Given the description of an element on the screen output the (x, y) to click on. 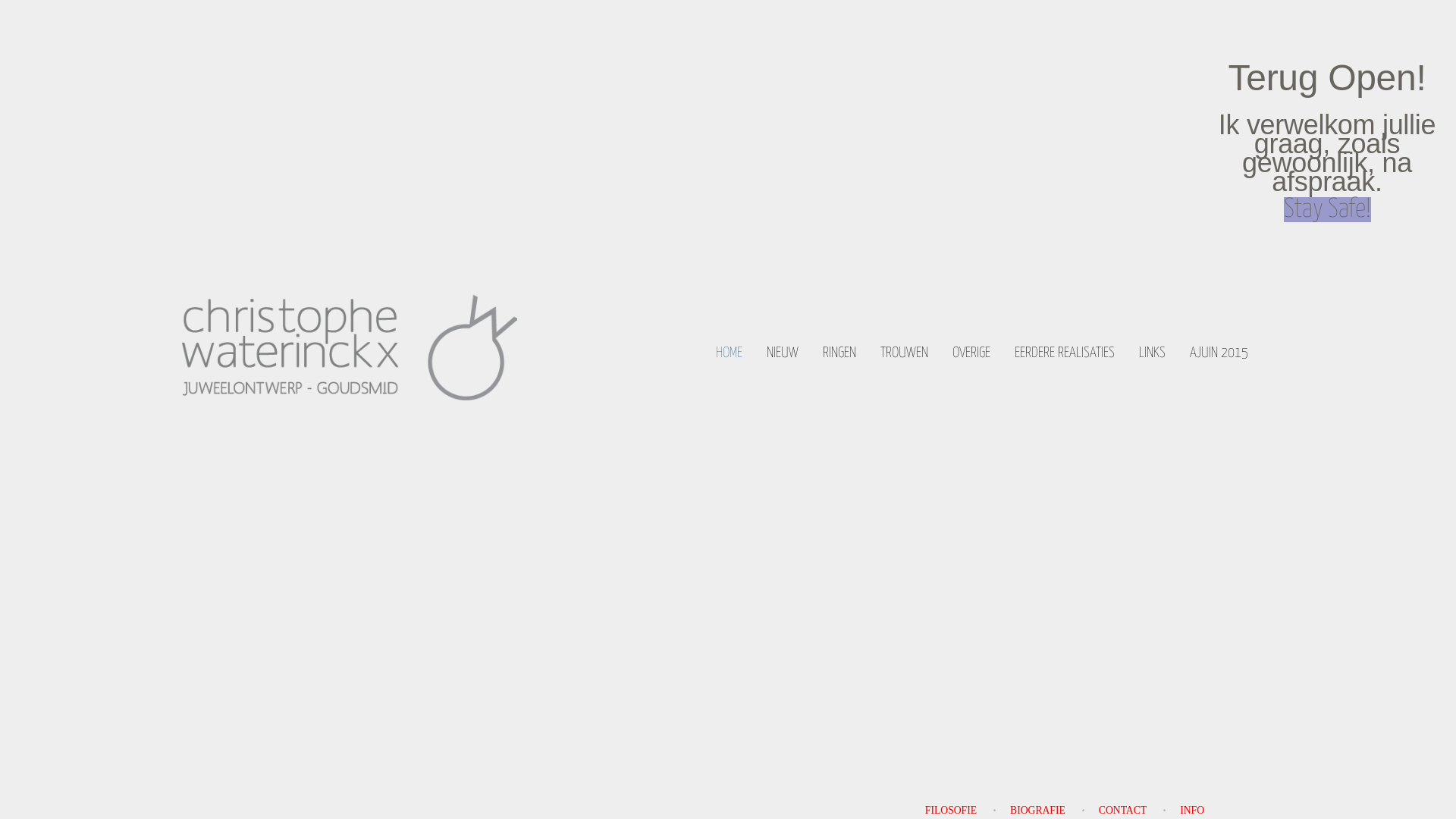
AJUIN 2015 Element type: text (1226, 354)
HOME Element type: text (736, 354)
FILOSOFIE Element type: text (950, 809)
LINKS Element type: text (1159, 354)
OVERIGE Element type: text (978, 354)
TROUWEN Element type: text (911, 354)
EERDERE REALISATIES Element type: text (1071, 354)
BIOGRAFIE Element type: text (1037, 809)
Facebook Element type: text (1264, 272)
NIEUW Element type: text (789, 354)
RINGEN Element type: text (846, 354)
INFO Element type: text (1191, 809)
CONTACT Element type: text (1122, 809)
